Given the description of an element on the screen output the (x, y) to click on. 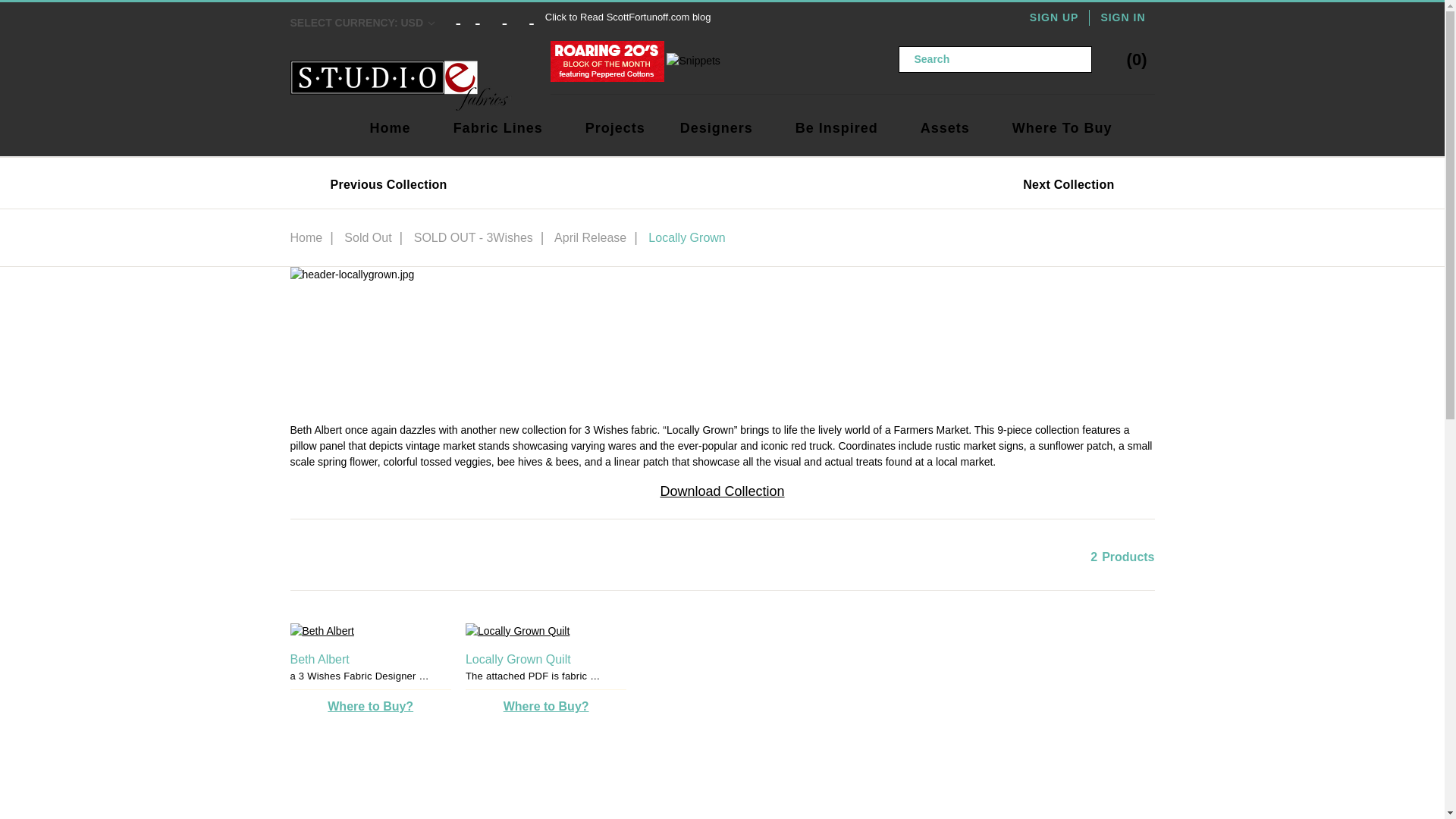
Locally Grown Quilt (545, 631)
Home (389, 128)
header-locallygrown.jpg (721, 336)
SELECT CURRENCY: USD (371, 16)
SIGN IN (1122, 17)
Click to Read ScottFortunoff.com blog (627, 16)
SIGN UP (1059, 17)
Fabric Lines (497, 128)
Studio E Fabrics (400, 85)
Beth Albert (369, 631)
